Given the description of an element on the screen output the (x, y) to click on. 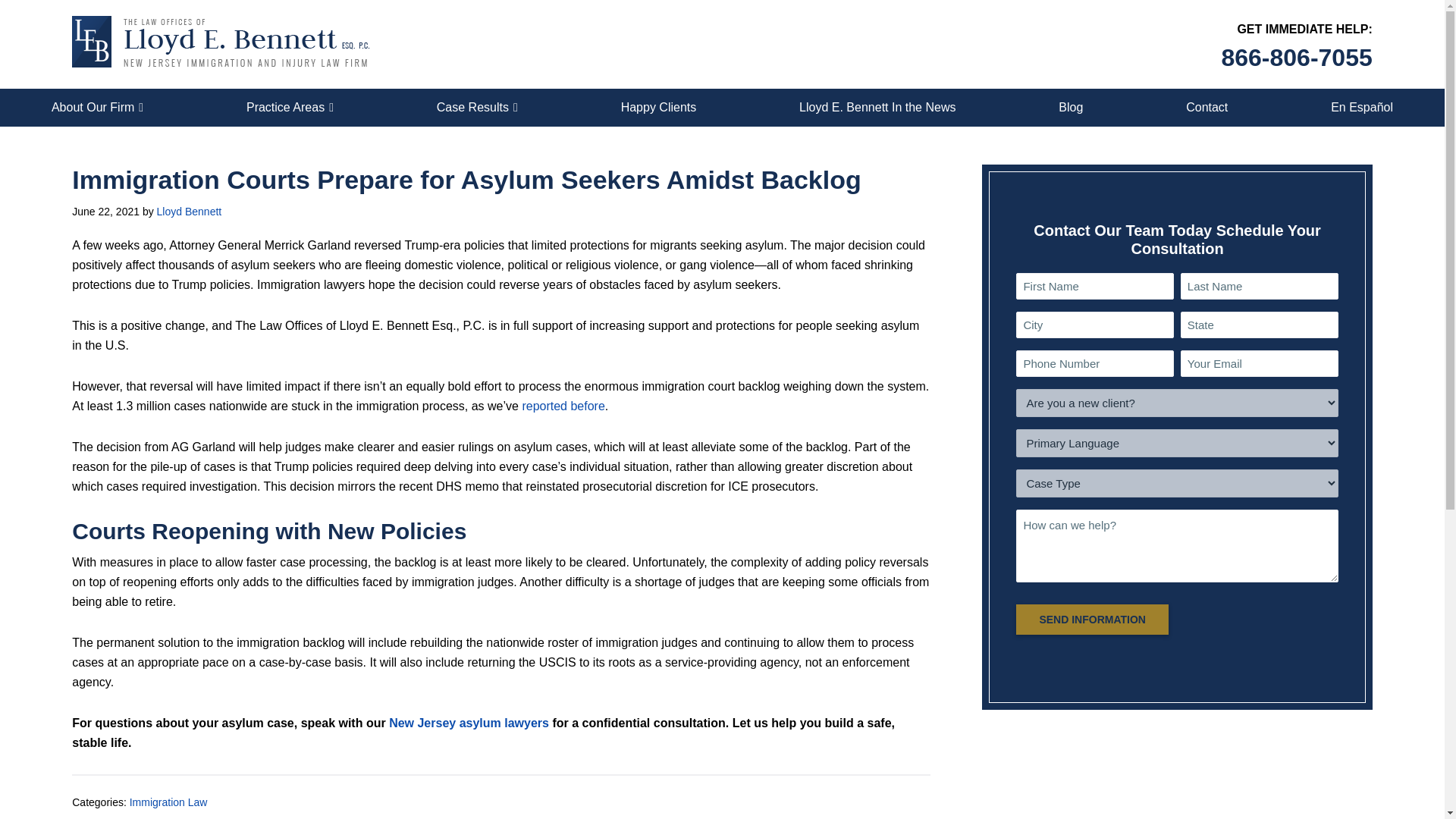
About Our Firm (97, 107)
Case Results (477, 107)
Lloyd Bennett (189, 211)
Happy Clients (658, 107)
Immigration Law (168, 802)
Contact (1206, 107)
New Jersey asylum lawyers (468, 722)
Blog (1070, 107)
reported before (562, 405)
Send Information (1092, 619)
Send Information (1092, 619)
Lloyd E. Bennett In the News (877, 107)
866-806-7055 (1296, 57)
Practice Areas (290, 107)
